Given the description of an element on the screen output the (x, y) to click on. 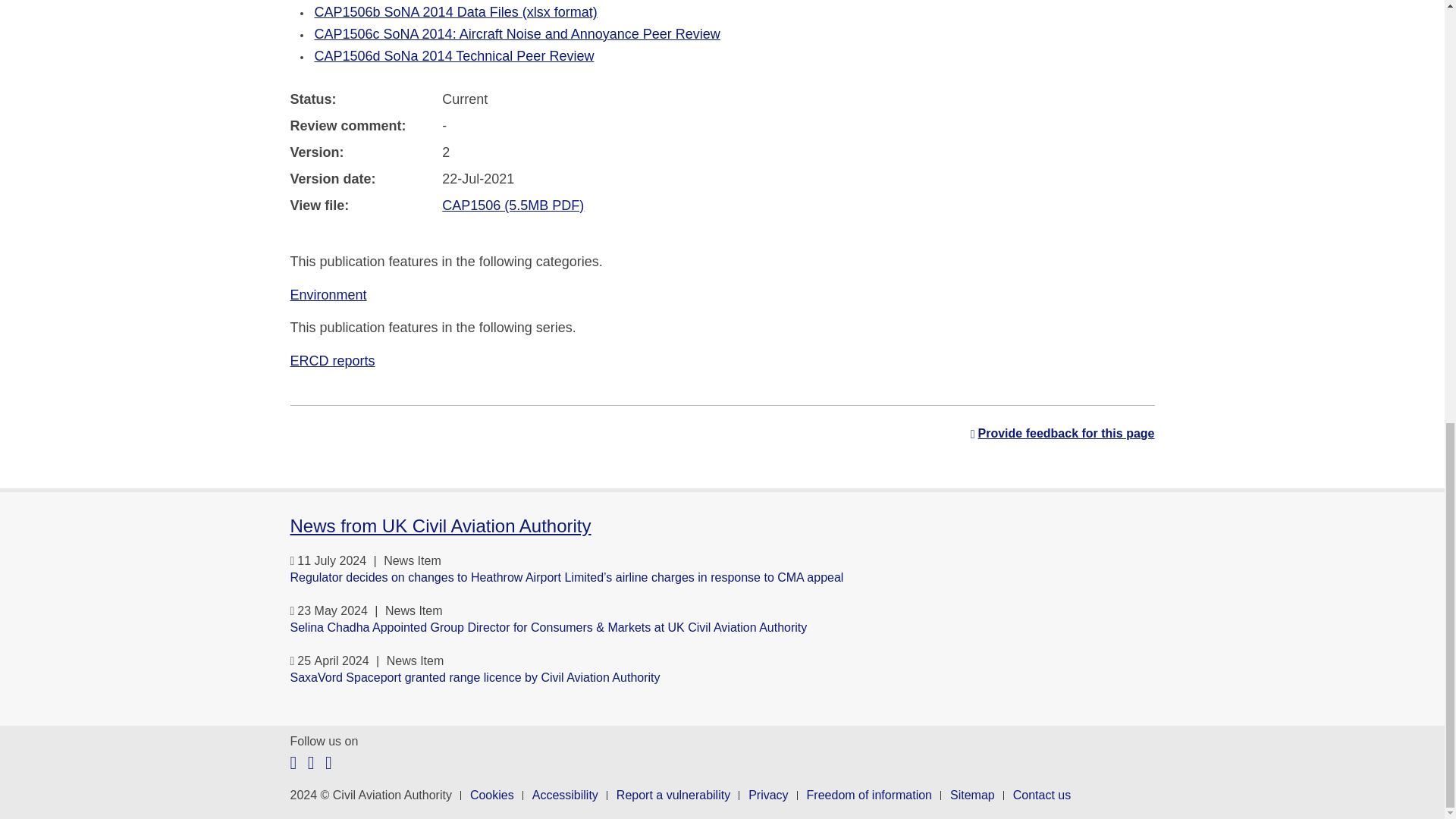
Environment (327, 294)
Cookies (491, 794)
CAP1506d SoNa 2014 Technical Peer Review (454, 55)
CAP1506c SoNA 2014: Aircraft Noise and Annoyance Peer Review (516, 33)
ERCD reports (331, 360)
Contact us (1041, 794)
Report a vulnerability (672, 794)
Accessibility (565, 794)
Privacy (767, 794)
Sitemap (972, 794)
Provide feedback for this page (1062, 433)
News from UK Civil Aviation Authority (440, 525)
Freedom of information (868, 794)
